Given the description of an element on the screen output the (x, y) to click on. 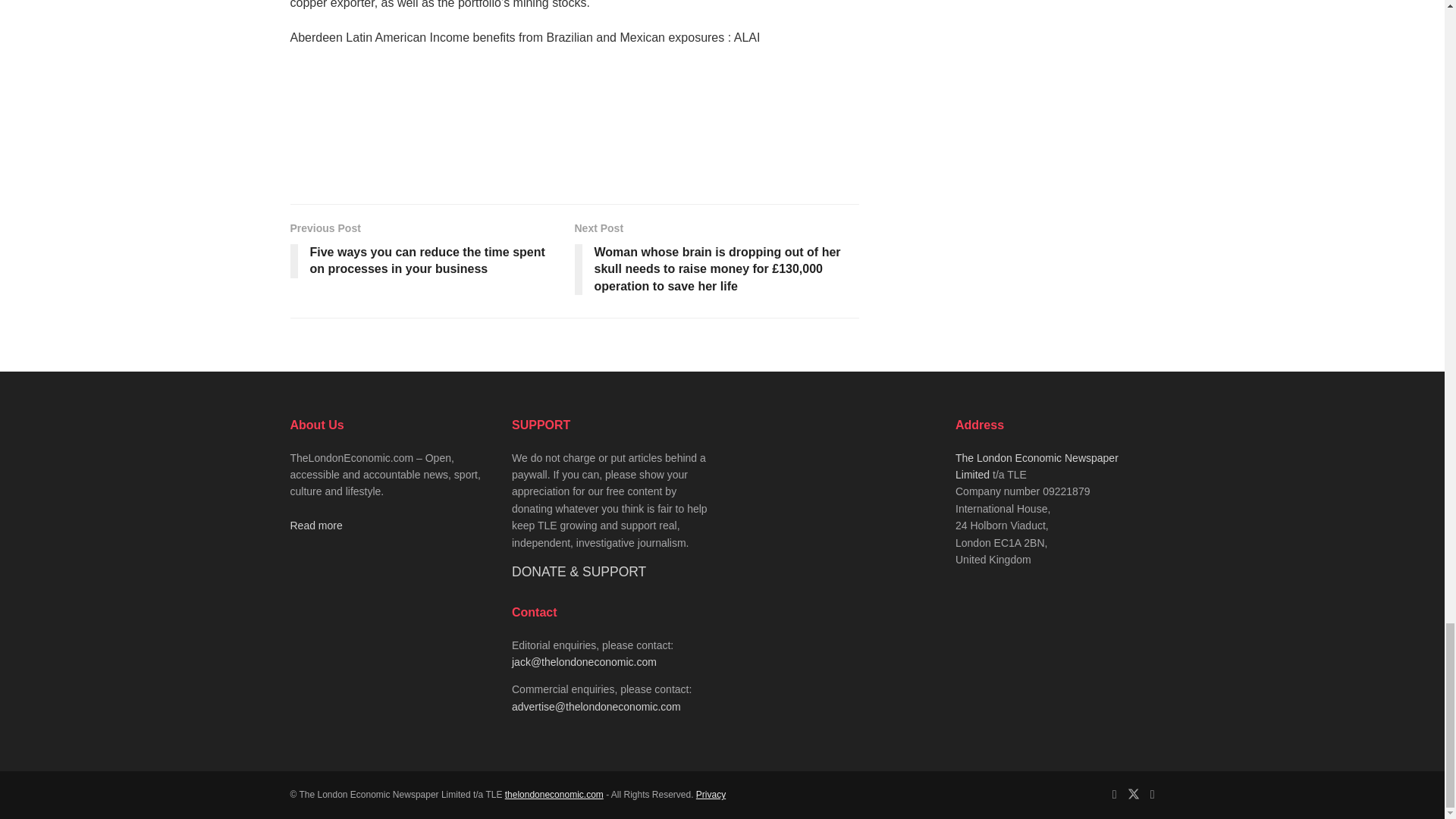
The London Economic (554, 794)
Privacy (710, 794)
